Given the description of an element on the screen output the (x, y) to click on. 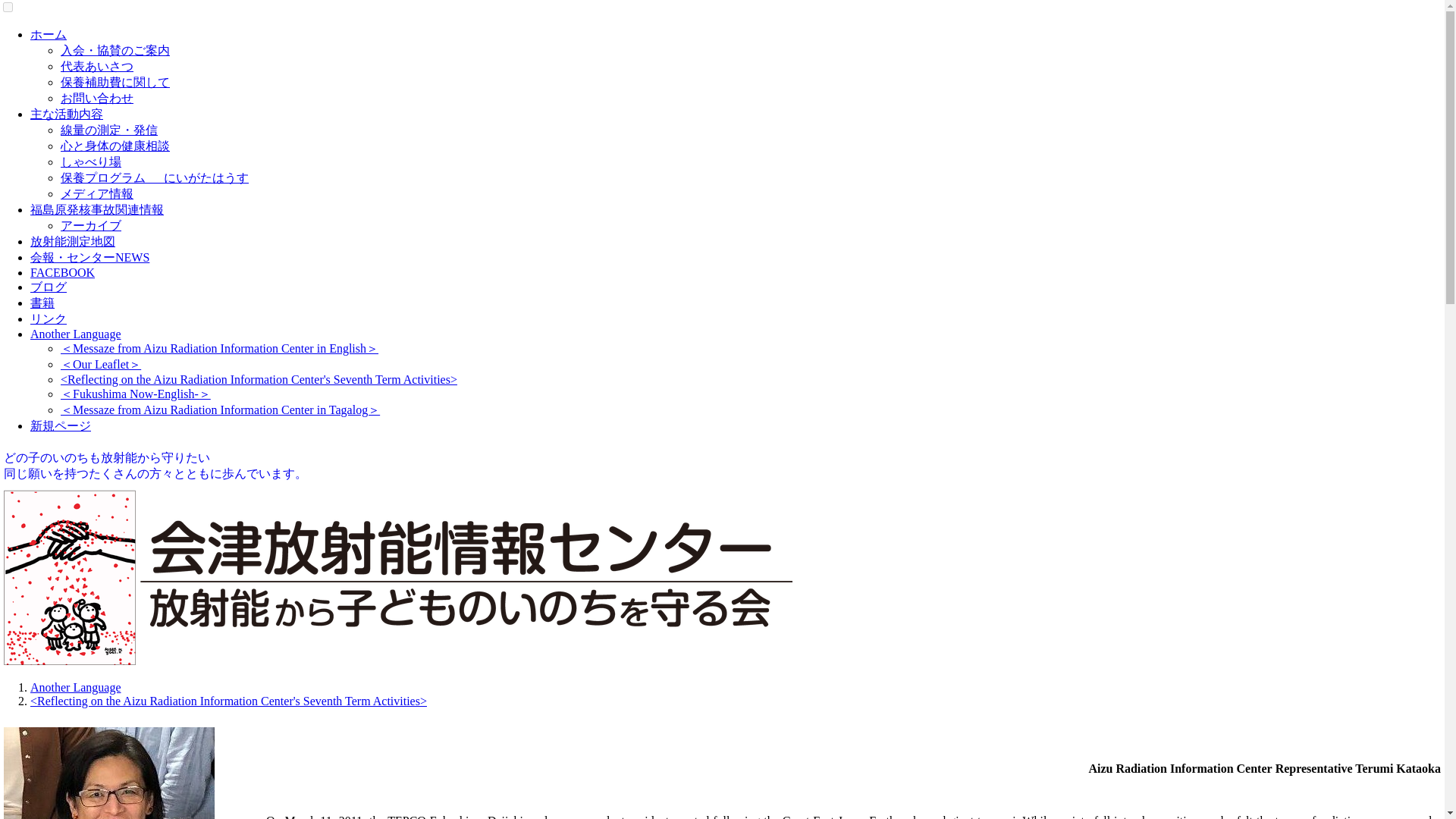
Another Language (75, 333)
FACEBOOK (62, 272)
Another Language (75, 686)
on (7, 7)
